Given the description of an element on the screen output the (x, y) to click on. 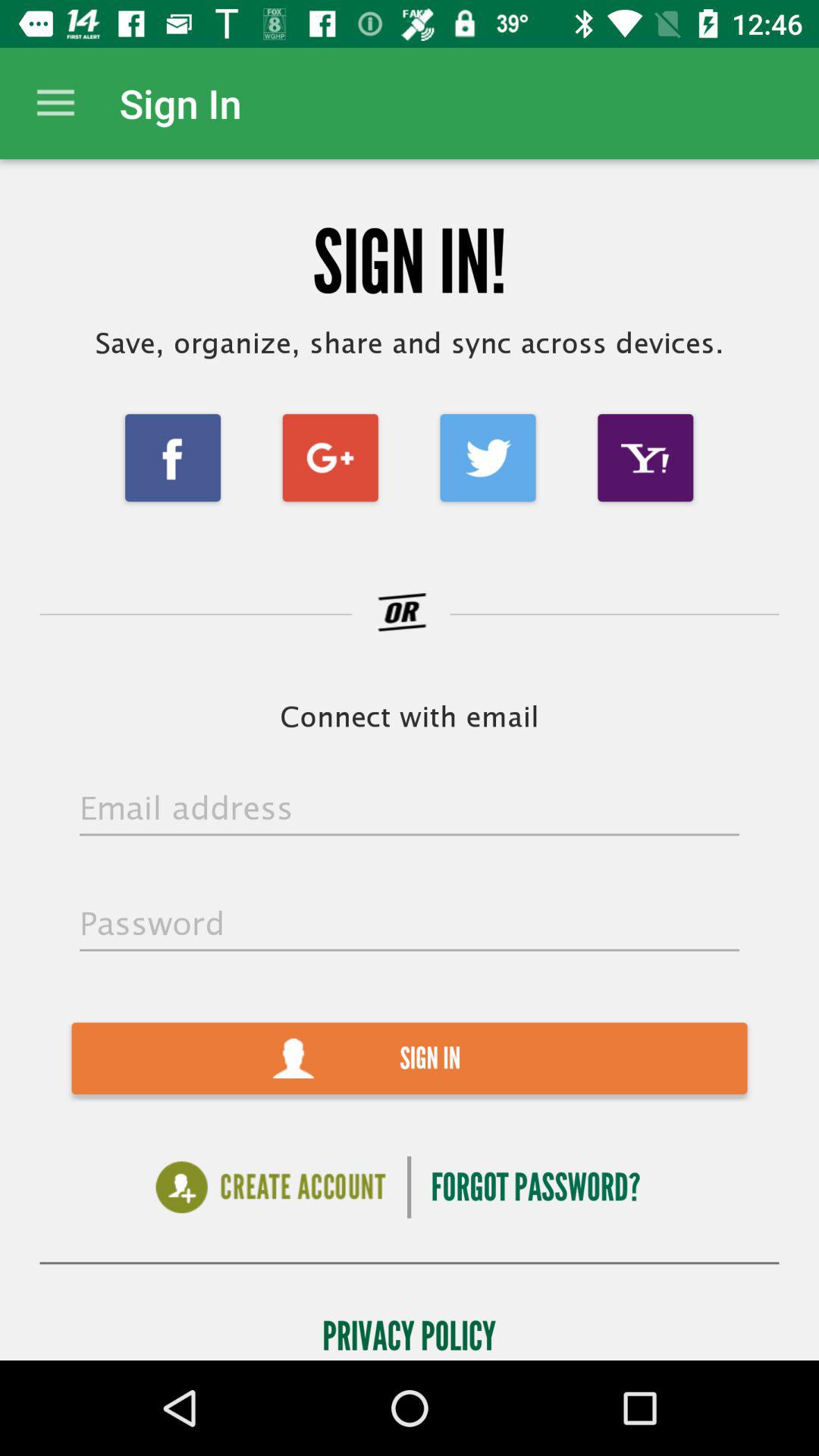
launch item below save organize share icon (487, 457)
